Given the description of an element on the screen output the (x, y) to click on. 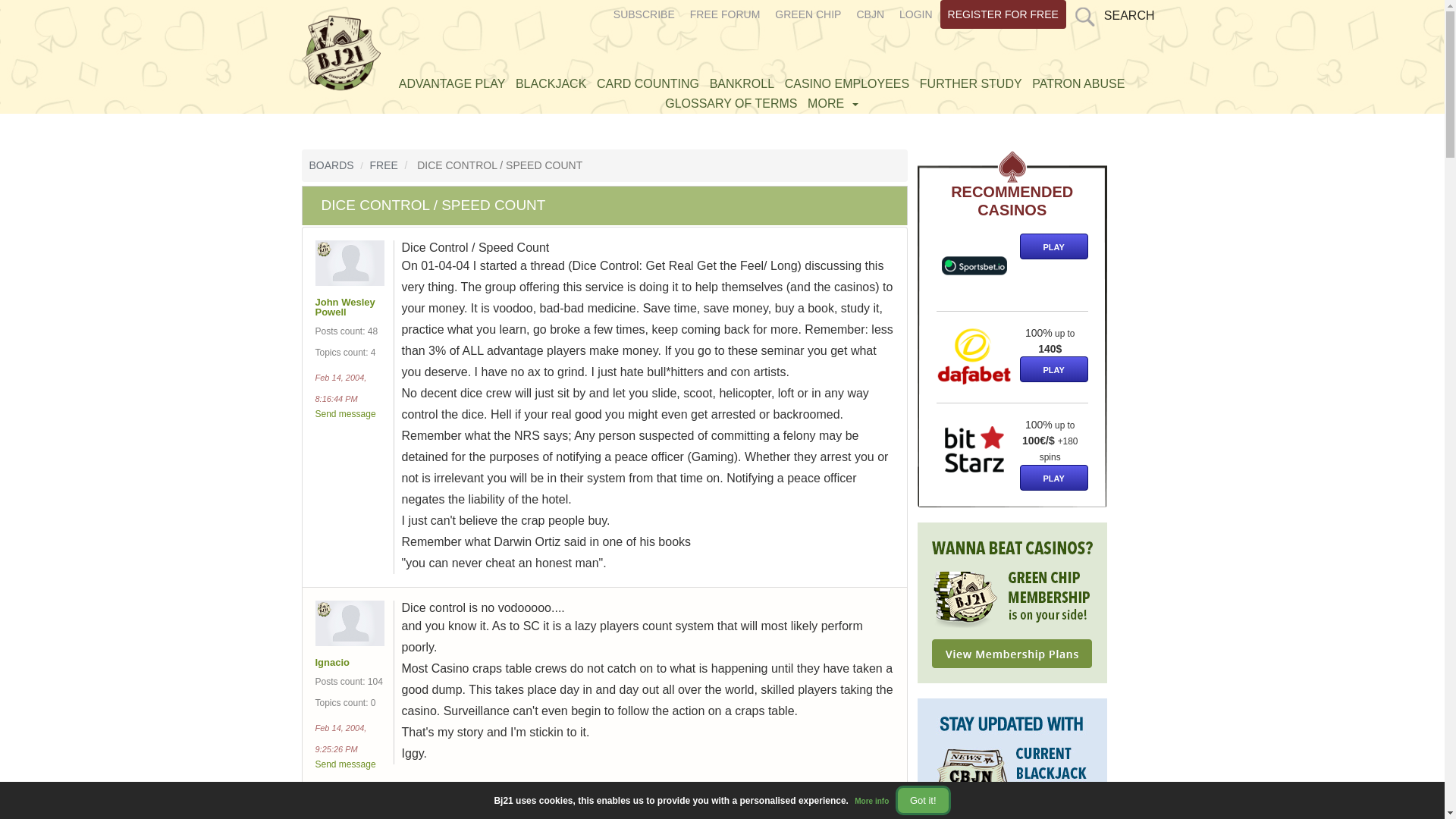
CARD COUNTING (647, 83)
ADVANTAGE PLAY (451, 83)
CASINO EMPLOYEES (847, 83)
FREE FORUM (725, 14)
LOGIN (915, 14)
BLACKJACK (550, 83)
SUBSCRIBE (643, 14)
GREEN CHIP (807, 14)
CBJN (869, 14)
REGISTER FOR FREE (1002, 14)
BANKROLL (741, 83)
